Given the description of an element on the screen output the (x, y) to click on. 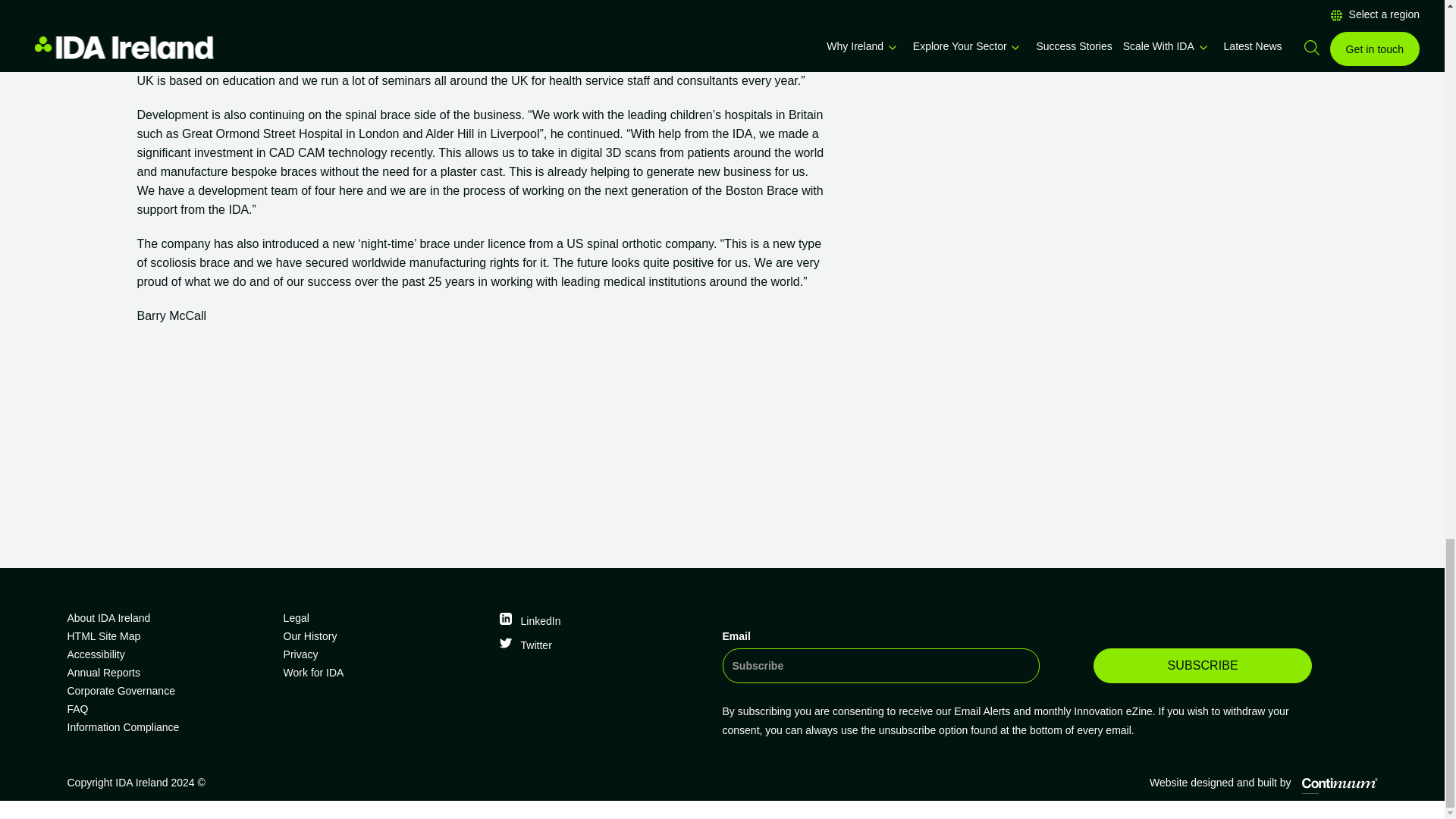
Information Compliance (167, 727)
HTML Site Map (167, 636)
Subscribe (1202, 665)
Annual Reports (167, 672)
Legal (384, 618)
Privacy (384, 654)
Work for IDA (384, 672)
About IDA Ireland (167, 618)
Corporate Governance (167, 690)
FAQ (167, 709)
Our History (384, 636)
Accessibility (167, 654)
